Given the description of an element on the screen output the (x, y) to click on. 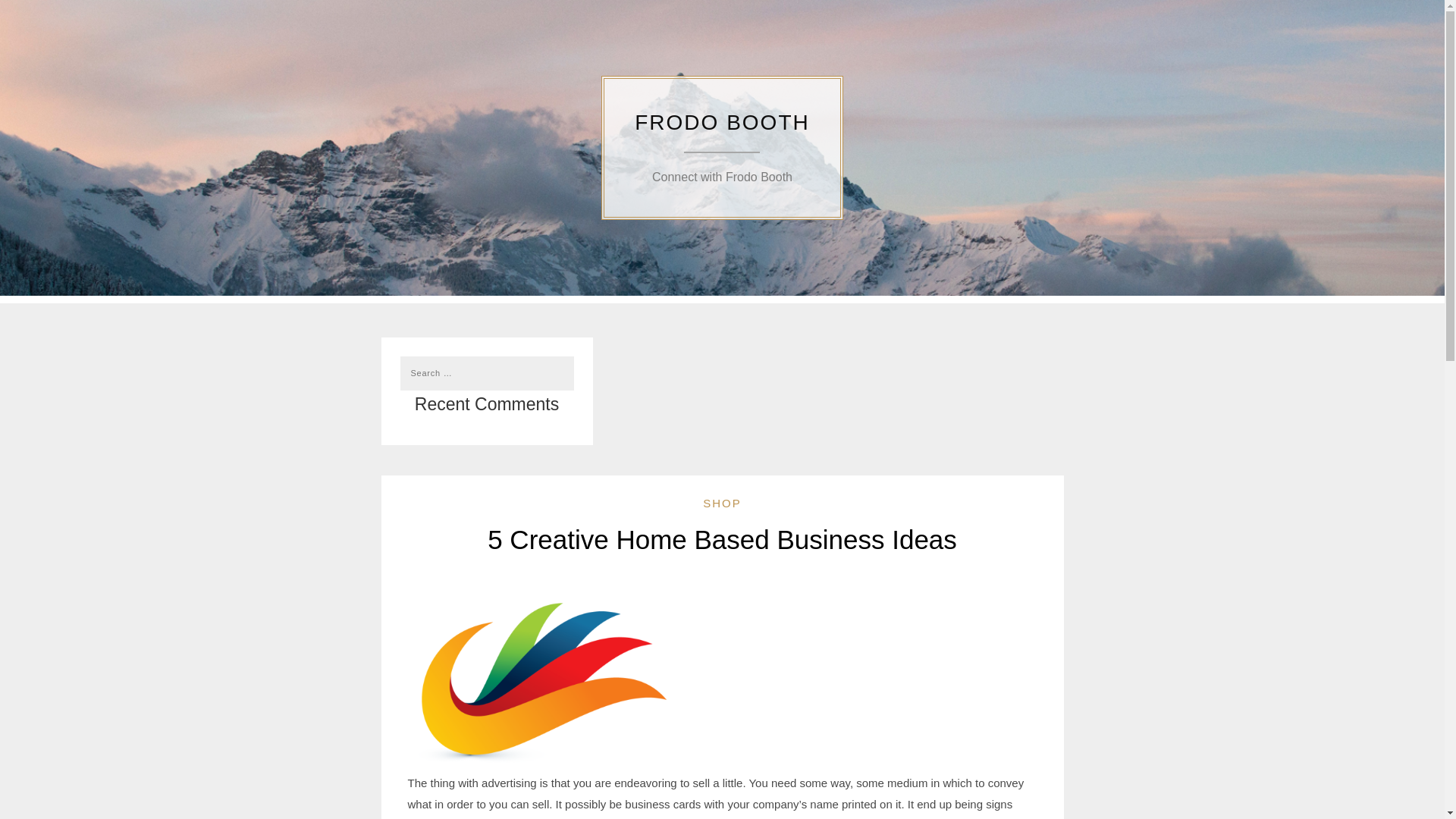
Search (31, 12)
SHOP (722, 176)
